Given the description of an element on the screen output the (x, y) to click on. 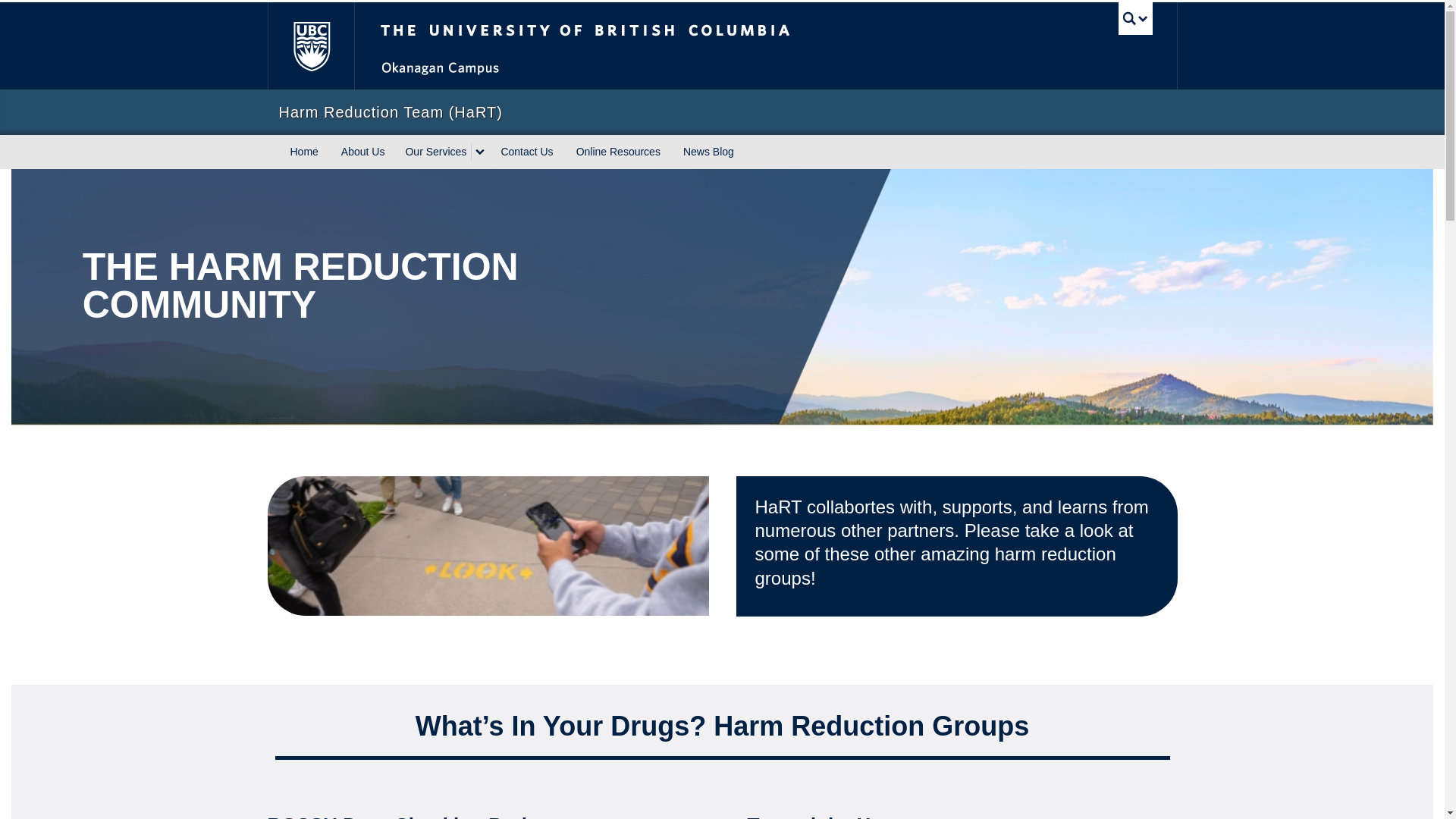
Home (304, 151)
The University of British Columbia (635, 45)
UBC Search (1135, 18)
News Blog (708, 151)
About Us (363, 151)
Online Resources (617, 151)
The University of British Columbia (309, 45)
Contact Us (526, 151)
Our Services (433, 151)
